Given the description of an element on the screen output the (x, y) to click on. 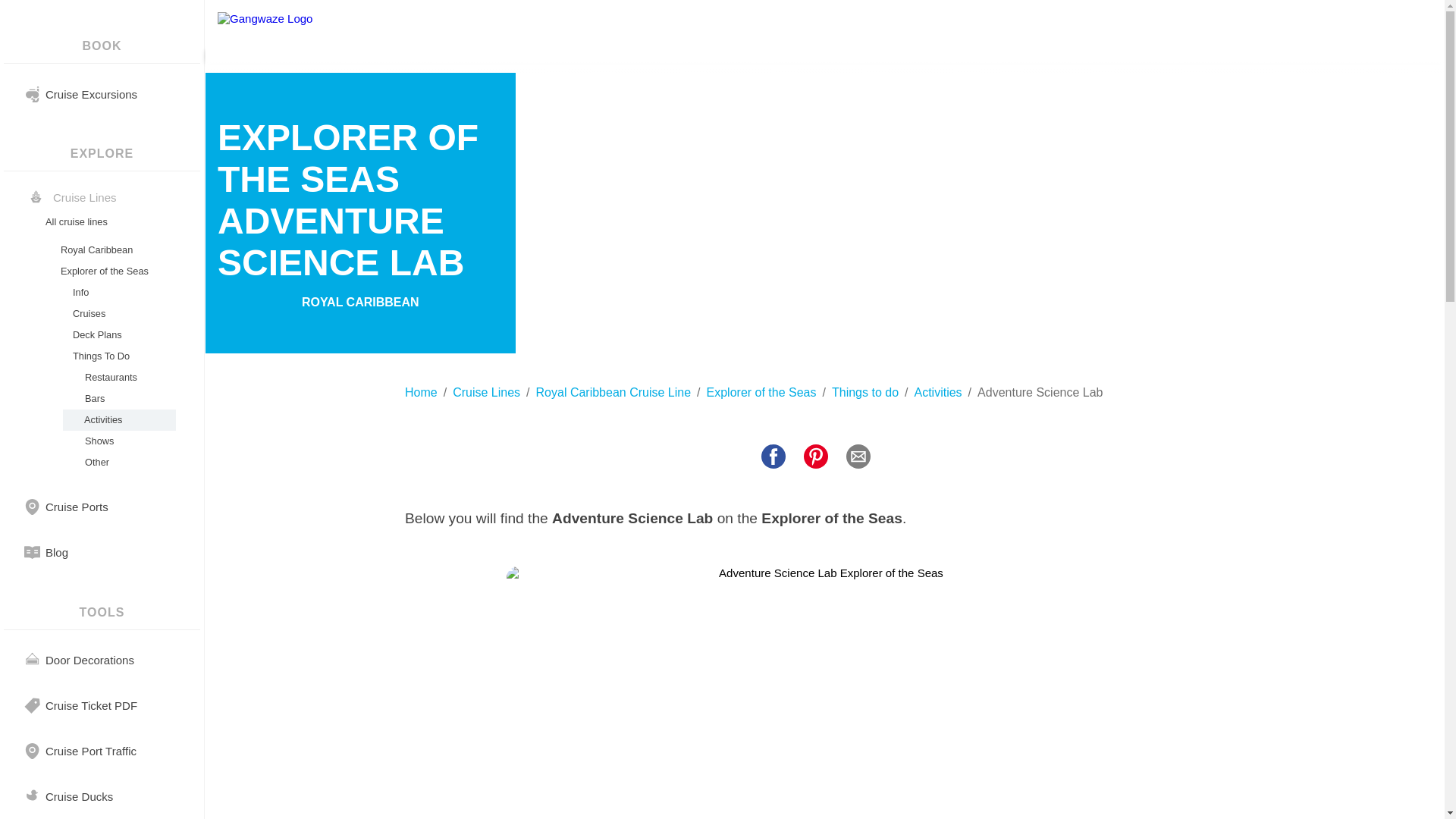
Things To Do (117, 355)
Cruise Excursions (90, 93)
Cruise Lines (485, 393)
Door Decorations (89, 659)
Explorer of the Seas (761, 393)
Cruise Ducks (79, 796)
Explorer of the Seas Restaurants (117, 377)
Shows (117, 441)
Explorer of the Seas Deck Plans (117, 334)
Explorer of the Seas Things To Do (117, 355)
Explorer of the Seas Bars (117, 398)
Cruise Ports (76, 506)
Blog (56, 552)
Go to homepage (301, 30)
All Cruise Lines (109, 221)
